Given the description of an element on the screen output the (x, y) to click on. 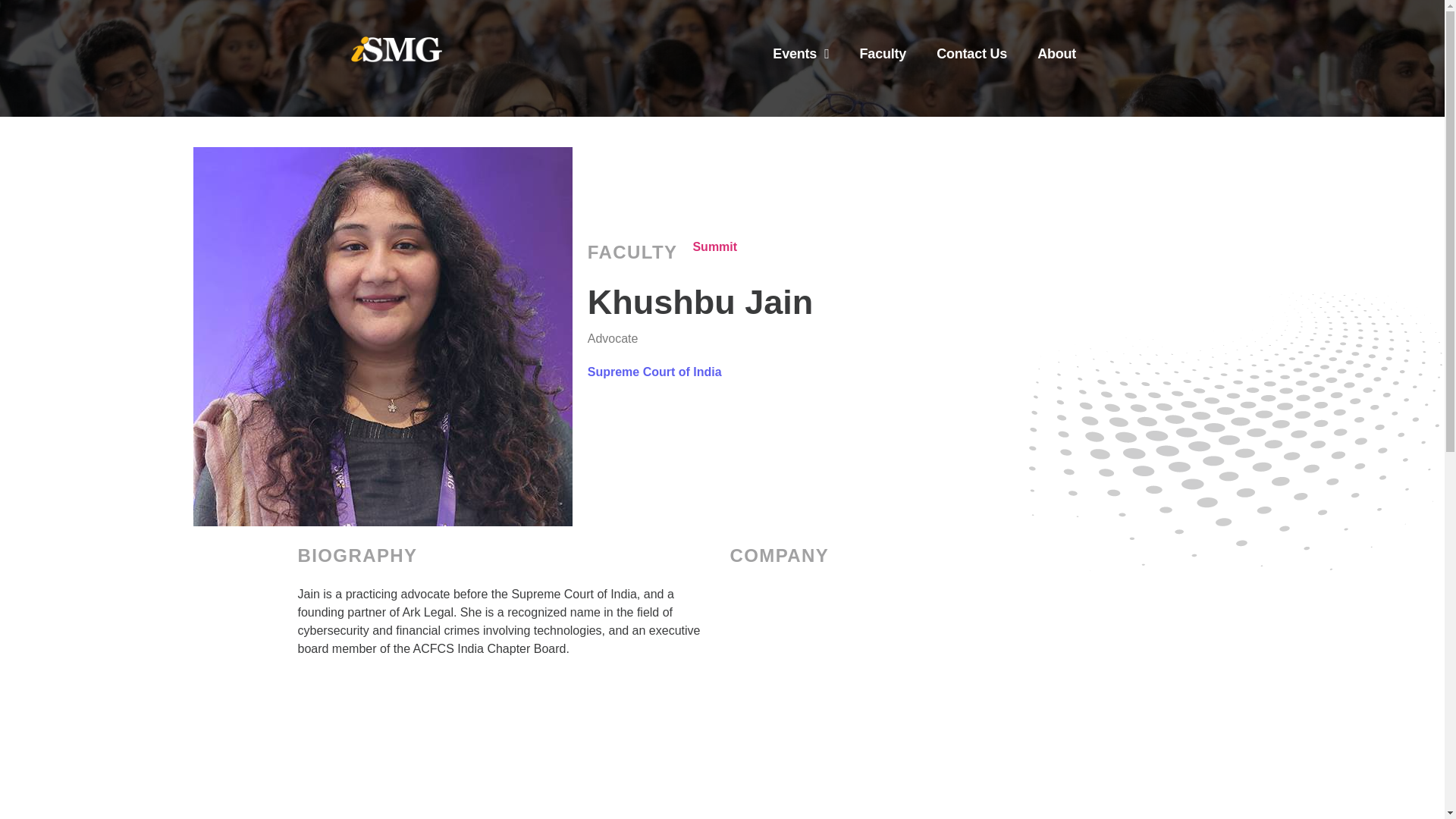
Events (800, 53)
Faculty (882, 53)
About (1056, 53)
Contact Us (971, 53)
